Given the description of an element on the screen output the (x, y) to click on. 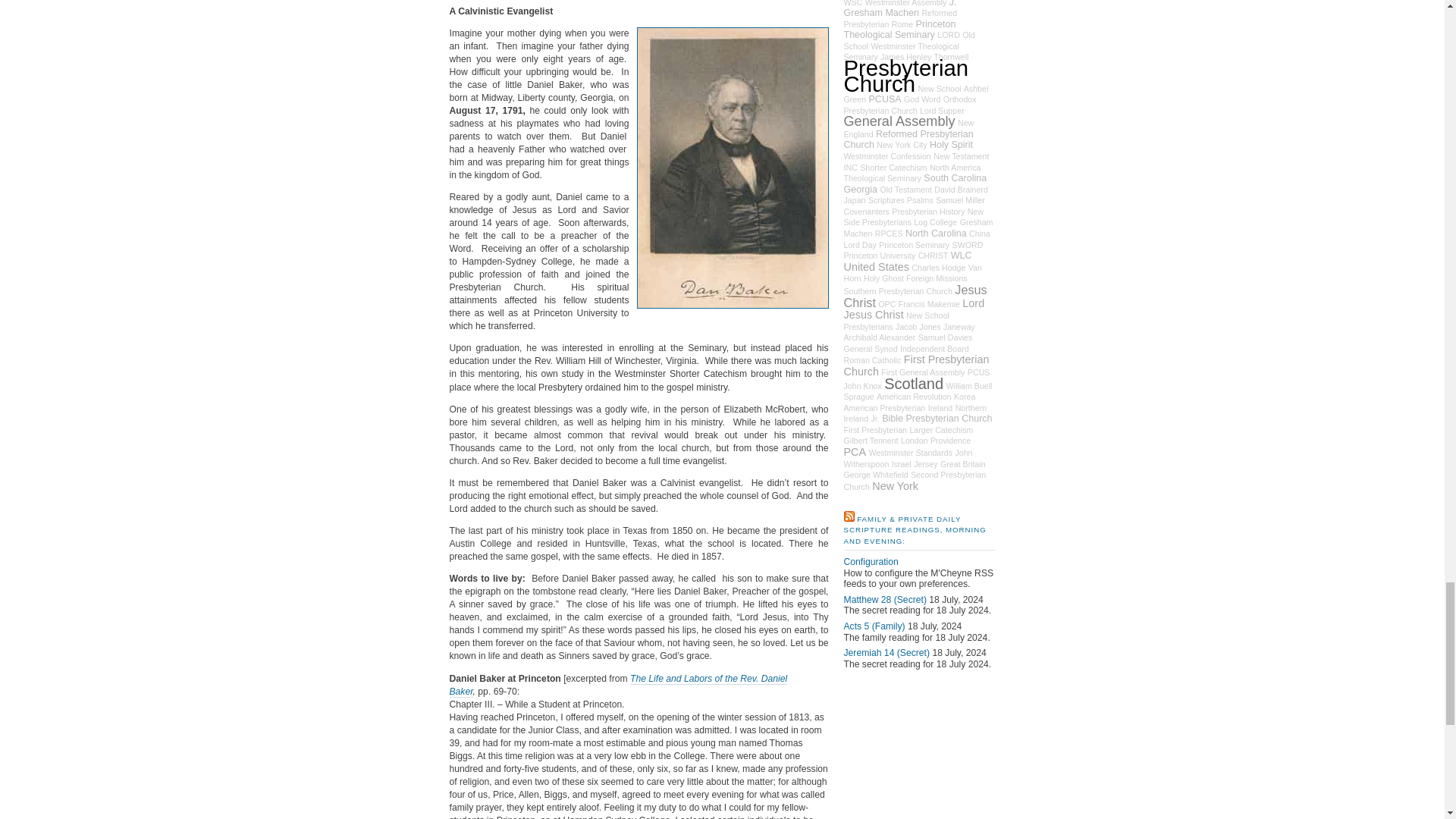
The Life and Labors of the Rev. Daniel Baker. (617, 685)
